Given the description of an element on the screen output the (x, y) to click on. 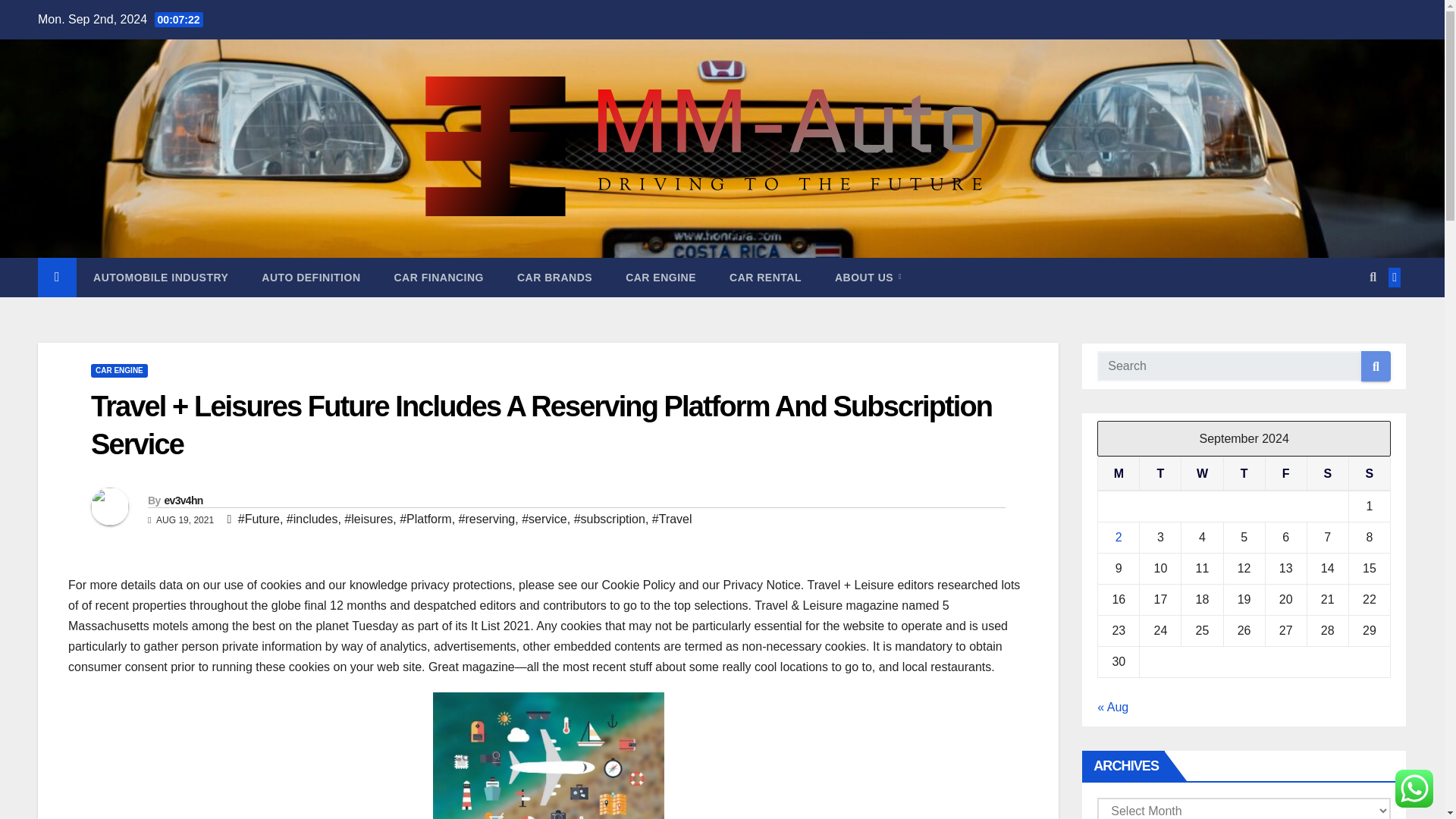
About Us (868, 277)
ev3v4hn (182, 500)
CAR ENGINE (660, 277)
Car Financing (438, 277)
AUTO DEFINITION (310, 277)
CAR RENTAL (765, 277)
ABOUT US (868, 277)
AUTOMOBILE INDUSTRY (160, 277)
Car Engine (660, 277)
auto definition (310, 277)
